Given the description of an element on the screen output the (x, y) to click on. 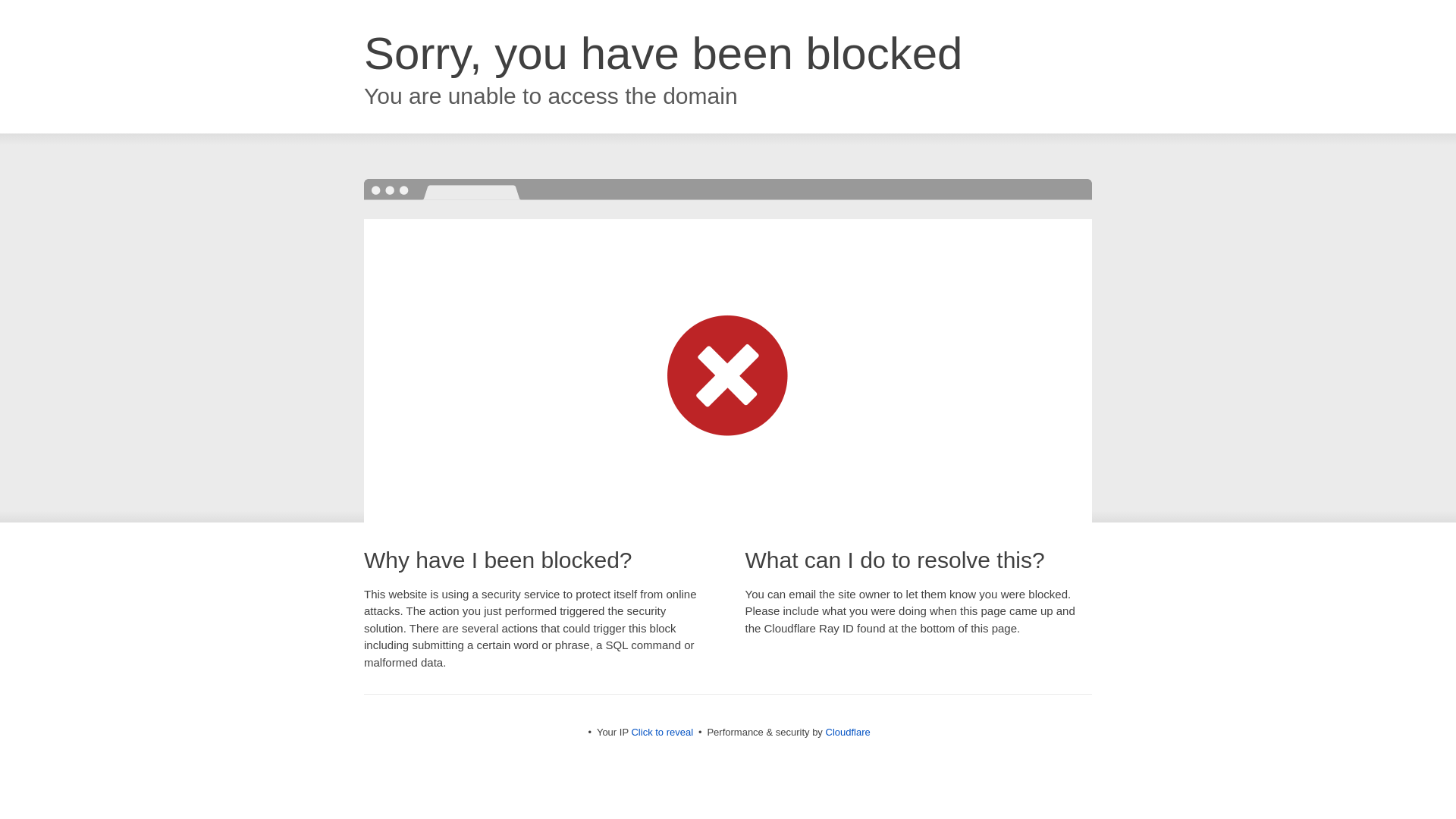
Click to reveal (661, 731)
Cloudflare (847, 731)
